Given the description of an element on the screen output the (x, y) to click on. 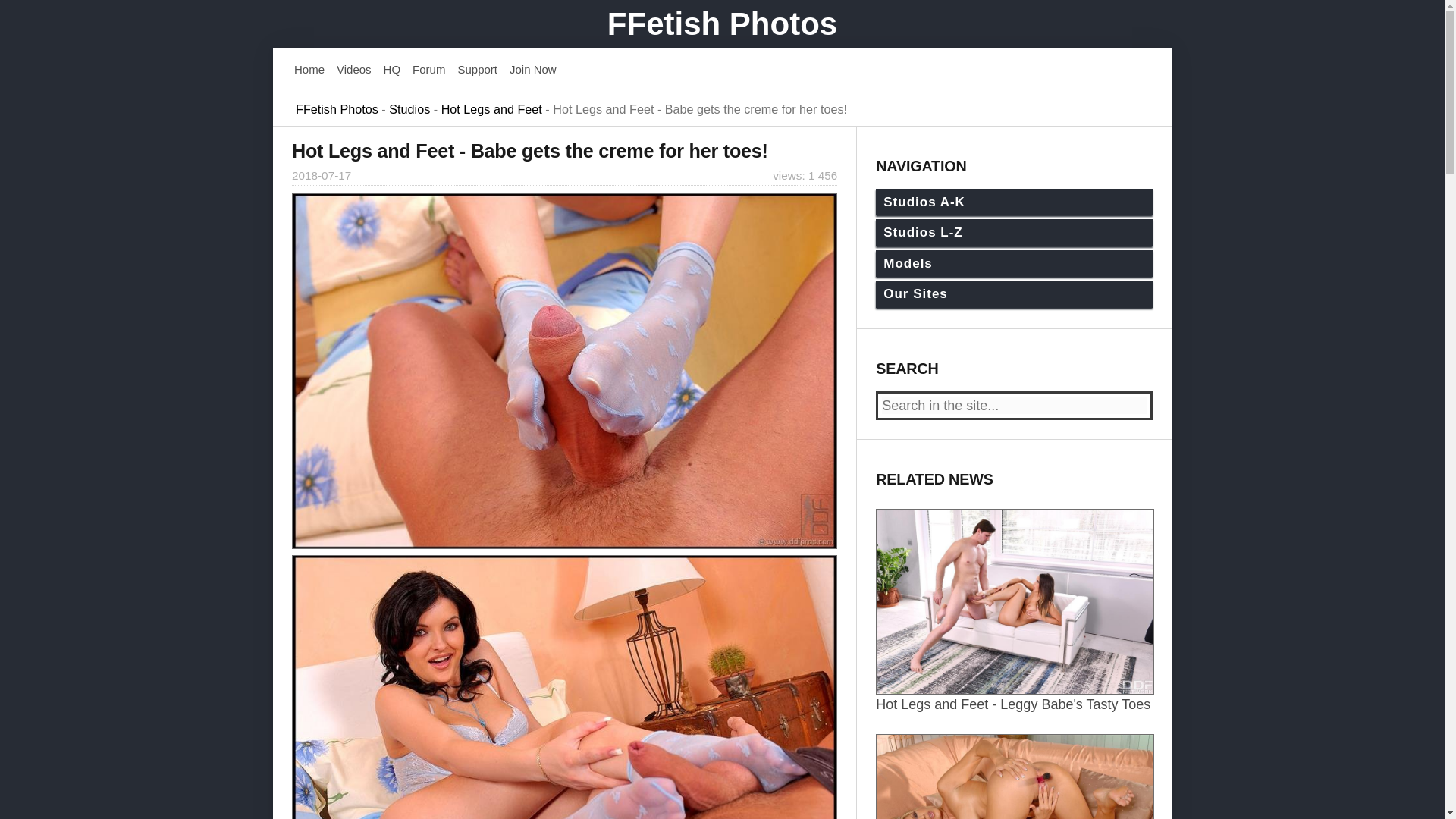
Videos (353, 69)
2018-07-17 (321, 174)
Hot Legs and Feet - Leggy Babe's Tasty Toes (1015, 695)
Views: 1 456 (805, 176)
Studios (408, 108)
Home (309, 69)
Join Now (532, 69)
FFetish Photos (722, 23)
Forum (428, 69)
Support (477, 69)
